Given the description of an element on the screen output the (x, y) to click on. 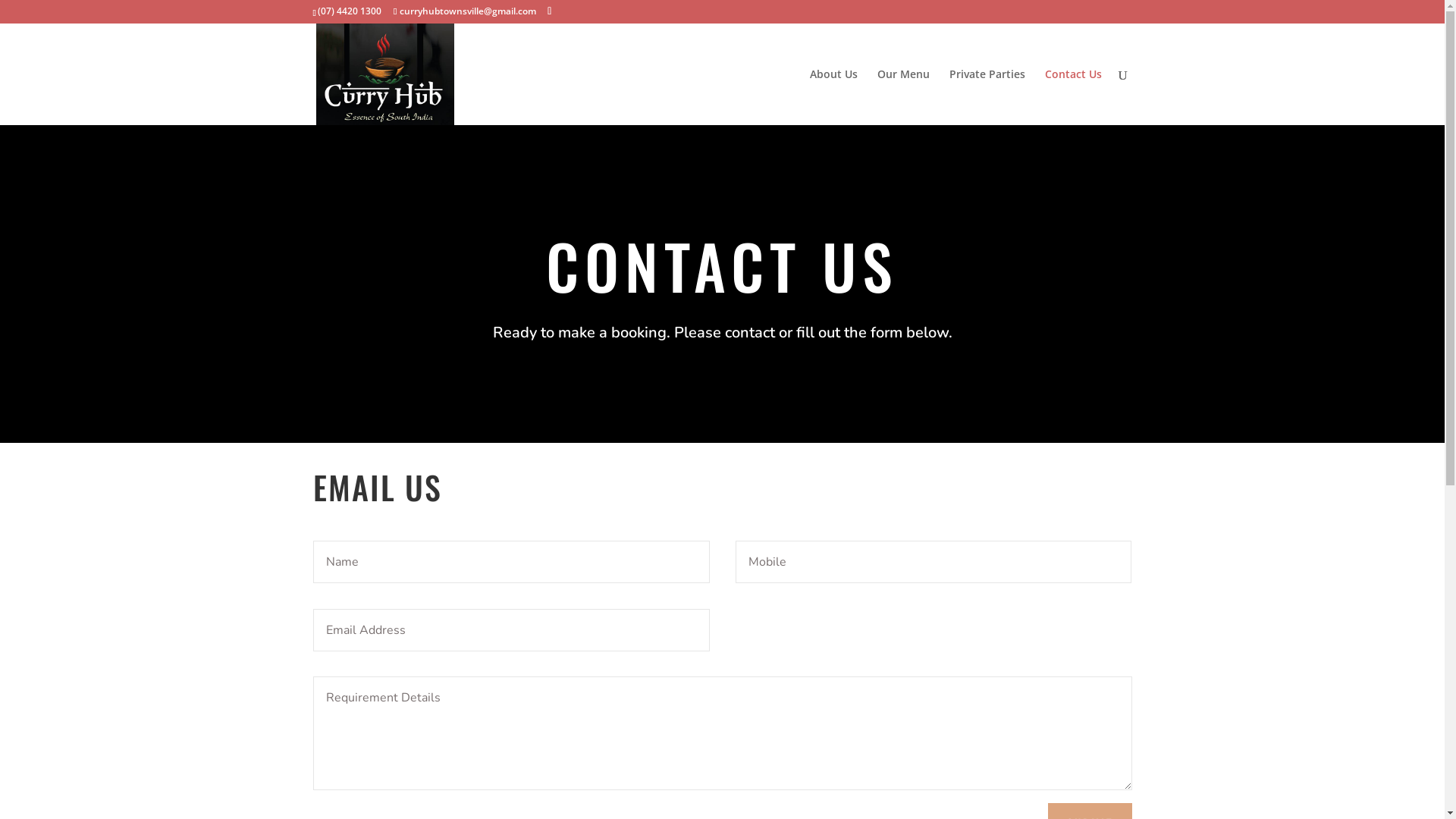
curryhubtownsville@gmail.com Element type: text (464, 10)
Private Parties Element type: text (987, 97)
Only numbers allowed.Minimum length: 10 characters.  Element type: hover (933, 561)
About Us Element type: text (833, 97)
Contact Us Element type: text (1072, 97)
Our Menu Element type: text (902, 97)
